Given the description of an element on the screen output the (x, y) to click on. 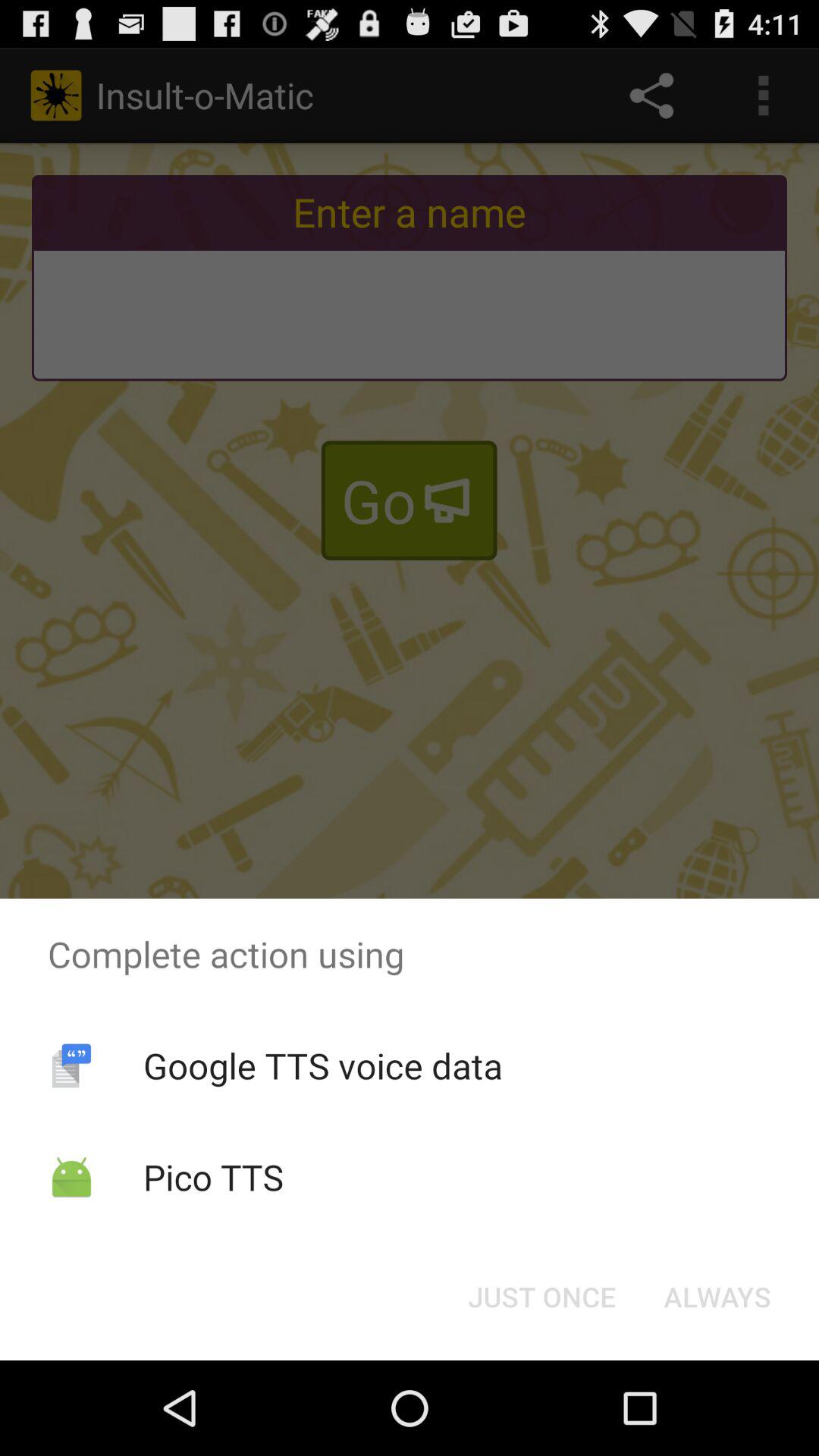
click app below the complete action using app (717, 1296)
